Given the description of an element on the screen output the (x, y) to click on. 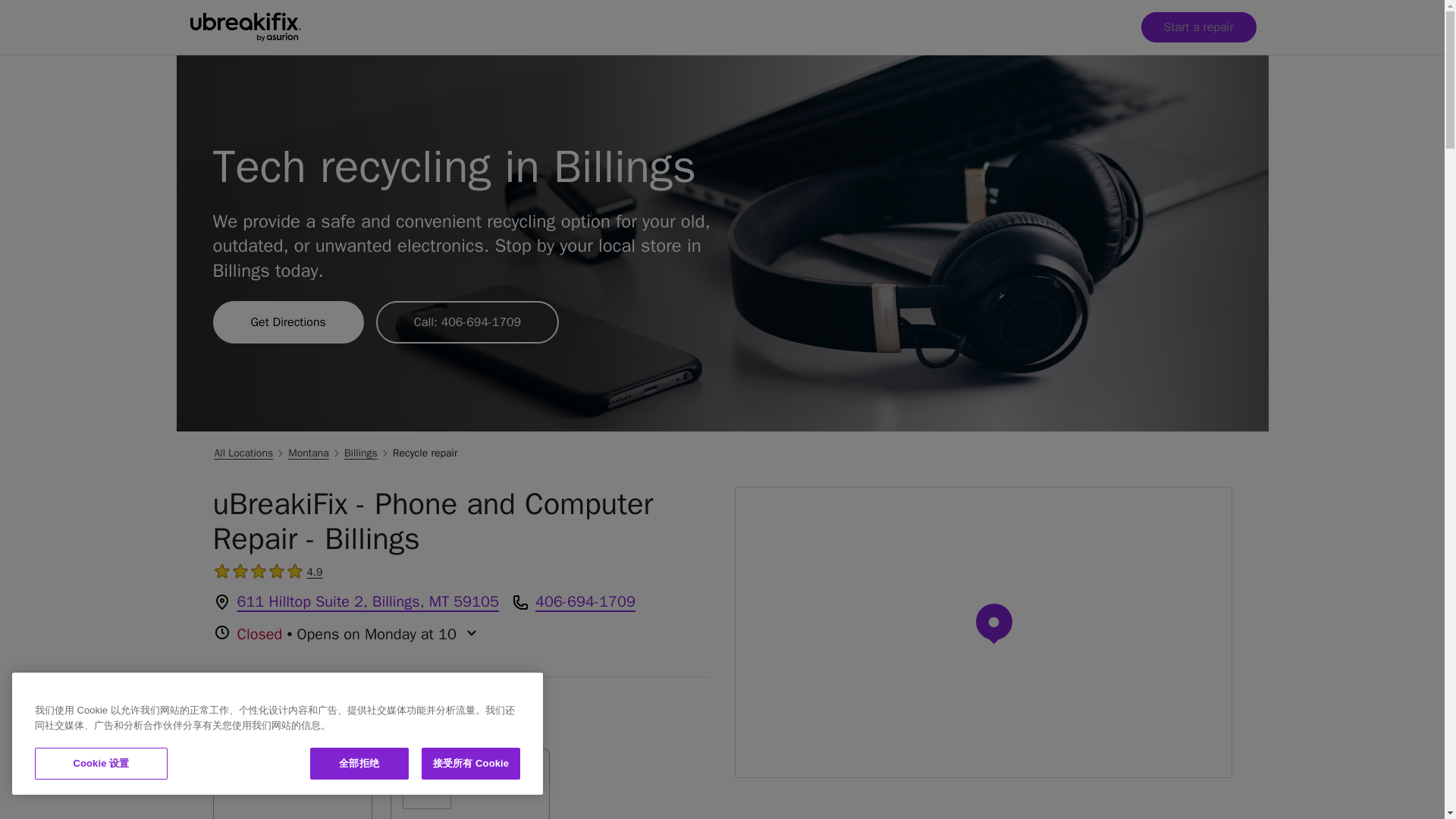
Start a repair (1197, 27)
406-694-1709 (584, 601)
4.9 (313, 571)
Call: 406-694-1709 (467, 322)
All Locations (243, 453)
Montana (291, 783)
Billings (469, 783)
Get Directions (308, 453)
